Given the description of an element on the screen output the (x, y) to click on. 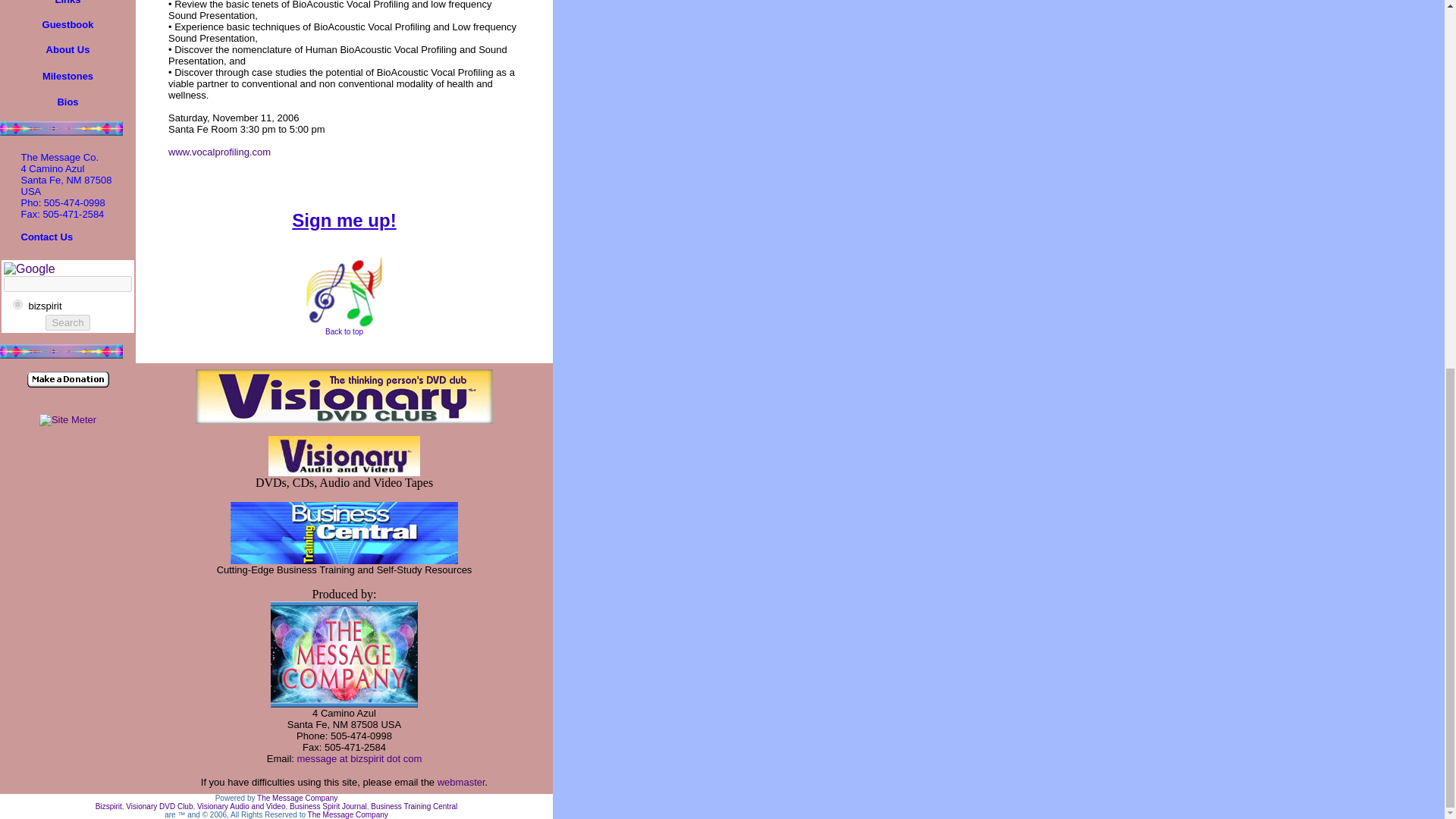
About Us (68, 48)
Sign me up! (344, 222)
Contact Us (47, 236)
Links (68, 2)
Bios (67, 101)
Search (66, 322)
Milestones (67, 74)
bizspirit.com (18, 304)
Search (66, 322)
www.vocalprofiling.com (219, 152)
